Given the description of an element on the screen output the (x, y) to click on. 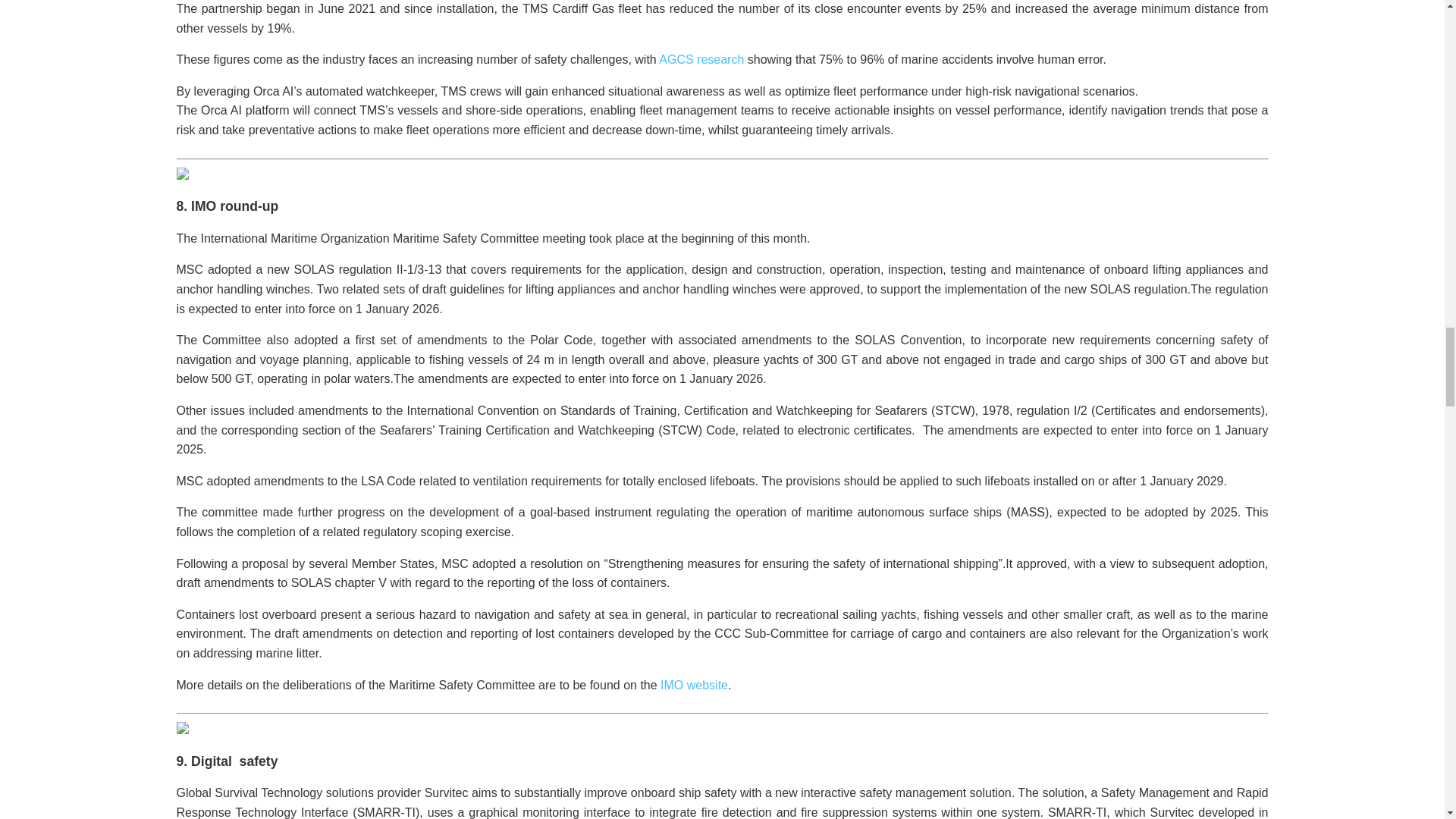
IMO website (694, 684)
AGCS research (701, 59)
